Given the description of an element on the screen output the (x, y) to click on. 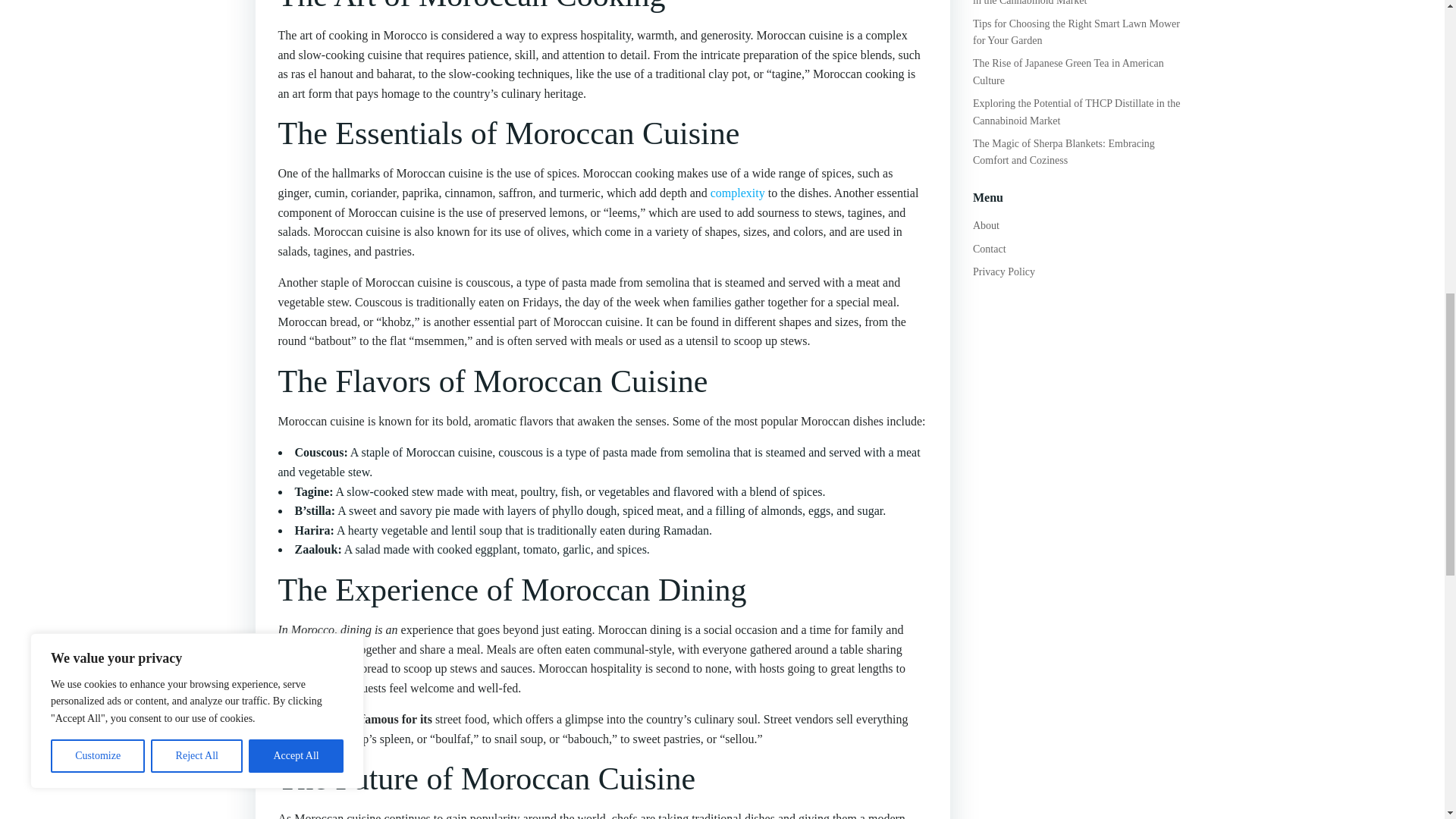
complexity (737, 192)
